Given the description of an element on the screen output the (x, y) to click on. 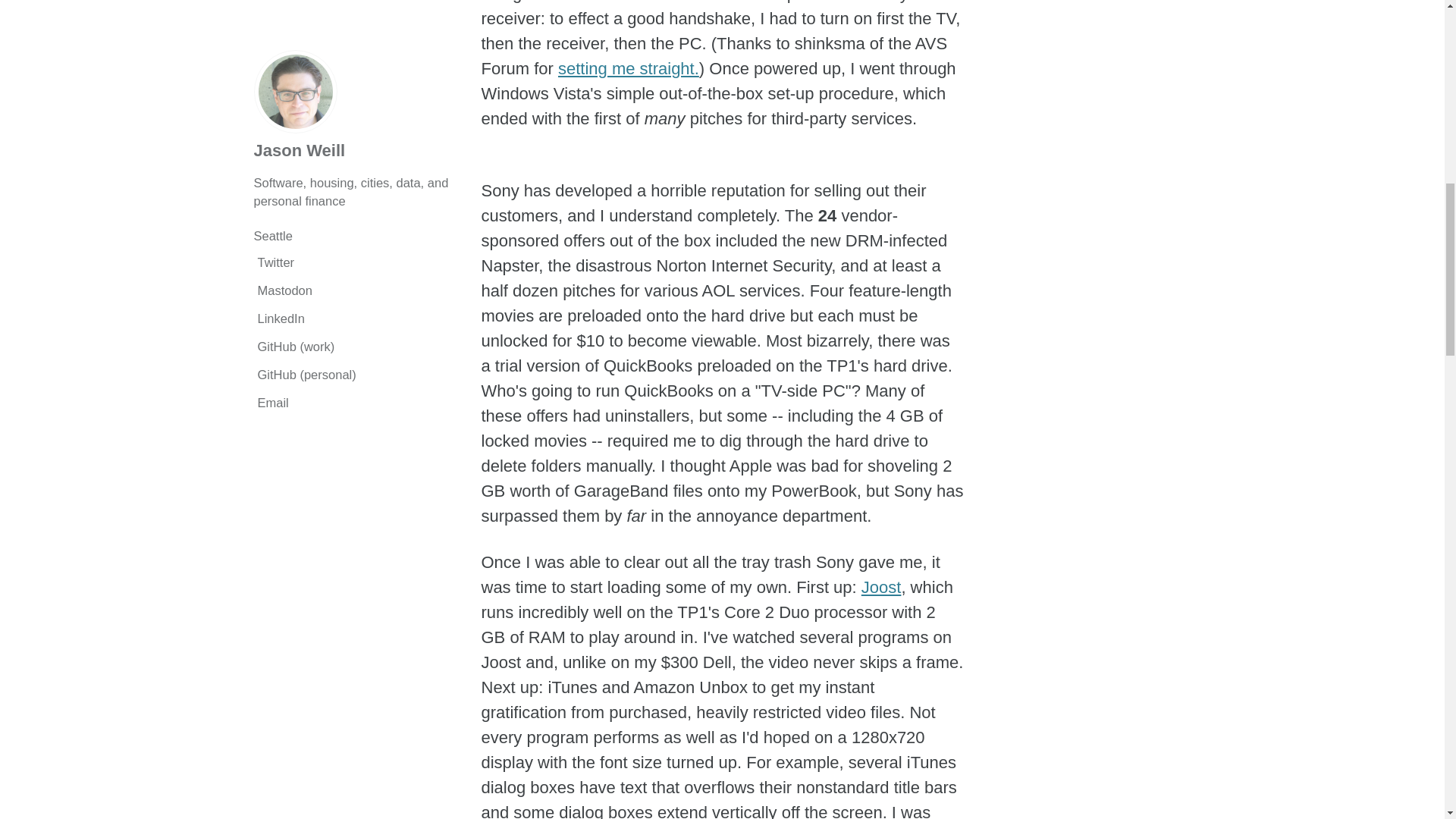
Joost (881, 587)
setting me straight. (627, 67)
